Given the description of an element on the screen output the (x, y) to click on. 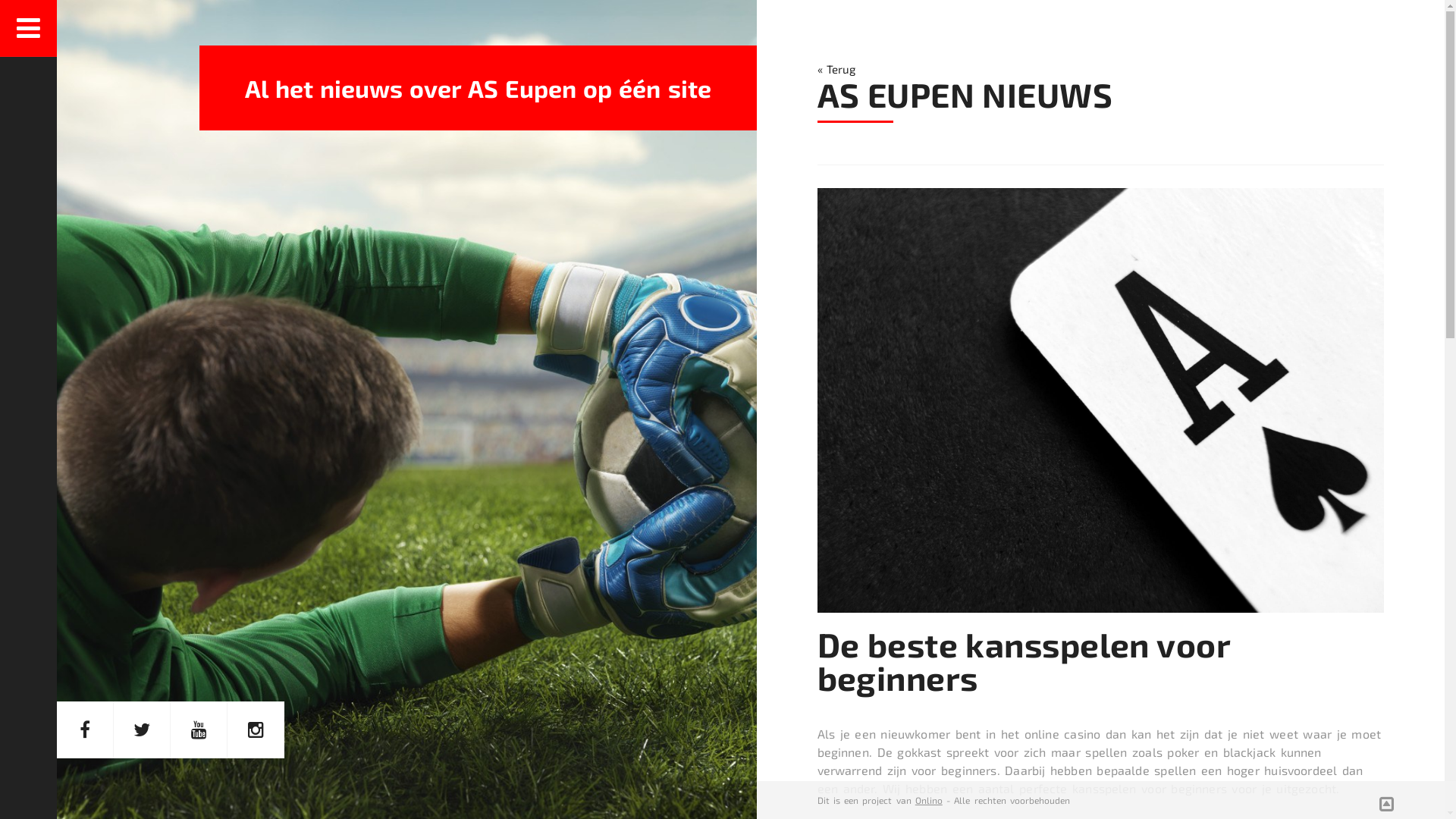
Menu Element type: text (28, 28)
Onlino Element type: text (928, 799)
INSTAGRAM Element type: text (255, 729)
YOUTUBE Element type: text (198, 729)
FACEBOOK Element type: text (84, 729)
TWITTER Element type: text (141, 729)
